Given the description of an element on the screen output the (x, y) to click on. 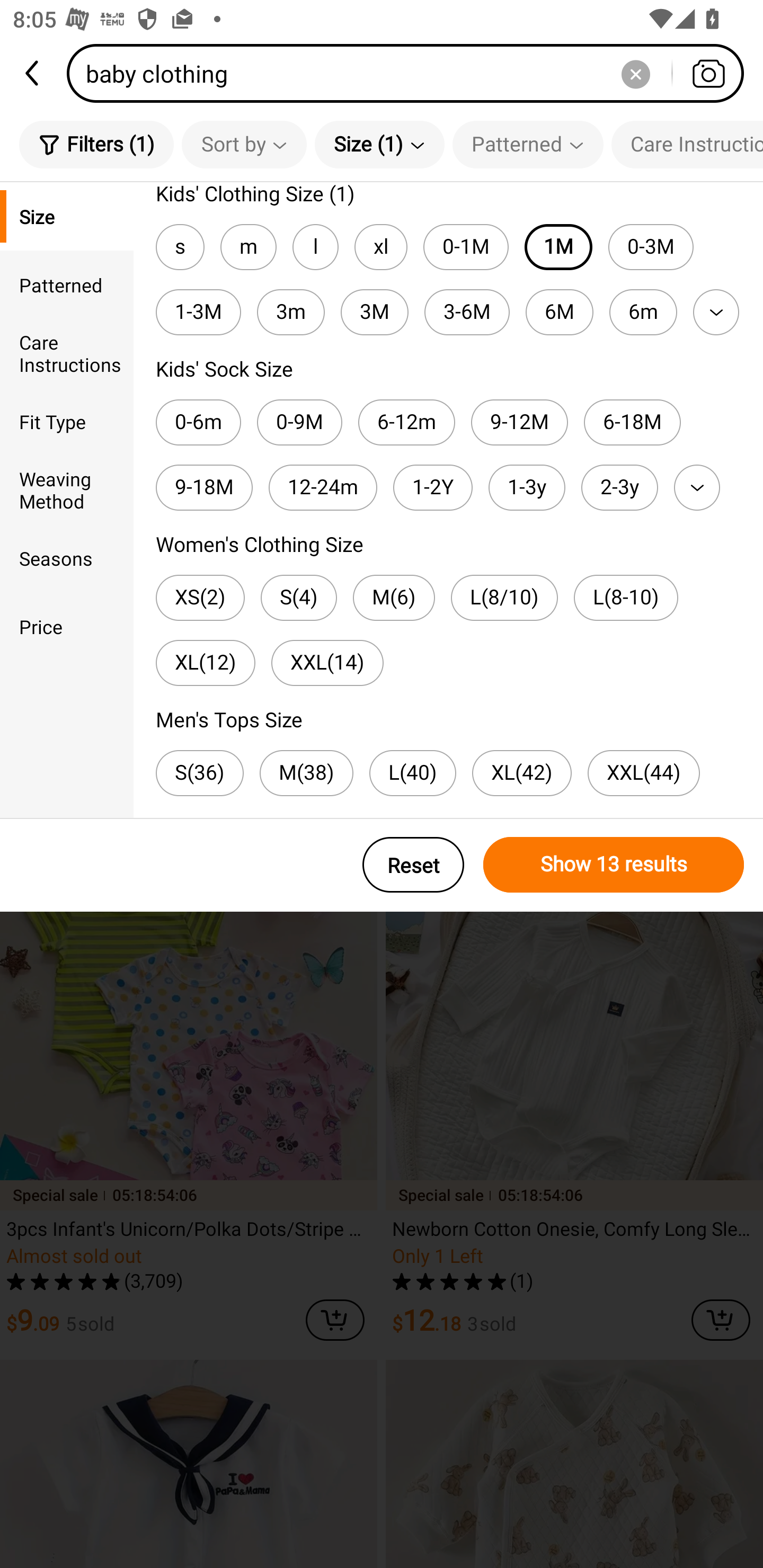
back (33, 72)
baby clothing (411, 73)
Delete search history (635, 73)
Search by photo (708, 73)
Filters (1) (96, 143)
Sort by (243, 143)
Size (1) (379, 143)
Patterned (527, 143)
Care Instructions (687, 143)
Size (66, 215)
s (179, 246)
m (248, 246)
l (315, 246)
xl (380, 246)
0-1M (465, 246)
1M (558, 246)
0-3M (650, 246)
Patterned (66, 284)
1-3M (198, 311)
3m (291, 311)
3M (374, 311)
3-6M (466, 311)
6M (559, 311)
6m (643, 311)
More (715, 311)
Care Instructions (66, 352)
Fit Type (66, 421)
0-6m (198, 422)
0-9M (299, 422)
6-12m (406, 422)
9-12M (518, 422)
6-18M (631, 422)
Weaving Method (66, 489)
9-18M (203, 487)
12-24m (322, 487)
1-2Y (432, 487)
1-3y (526, 487)
2-3y (619, 487)
More (696, 487)
Seasons (66, 557)
XS(2) (199, 597)
S(4) (298, 597)
M(6) (393, 597)
L(8/10) (503, 597)
L(8-10) (625, 597)
Price (66, 626)
XL(12) (205, 662)
XXL(14) (327, 662)
S(36) (199, 772)
M(38) (306, 772)
L(40) (412, 772)
XL(42) (521, 772)
XXL(44) (643, 772)
Reset (412, 864)
Show 13 results (612, 864)
